Given the description of an element on the screen output the (x, y) to click on. 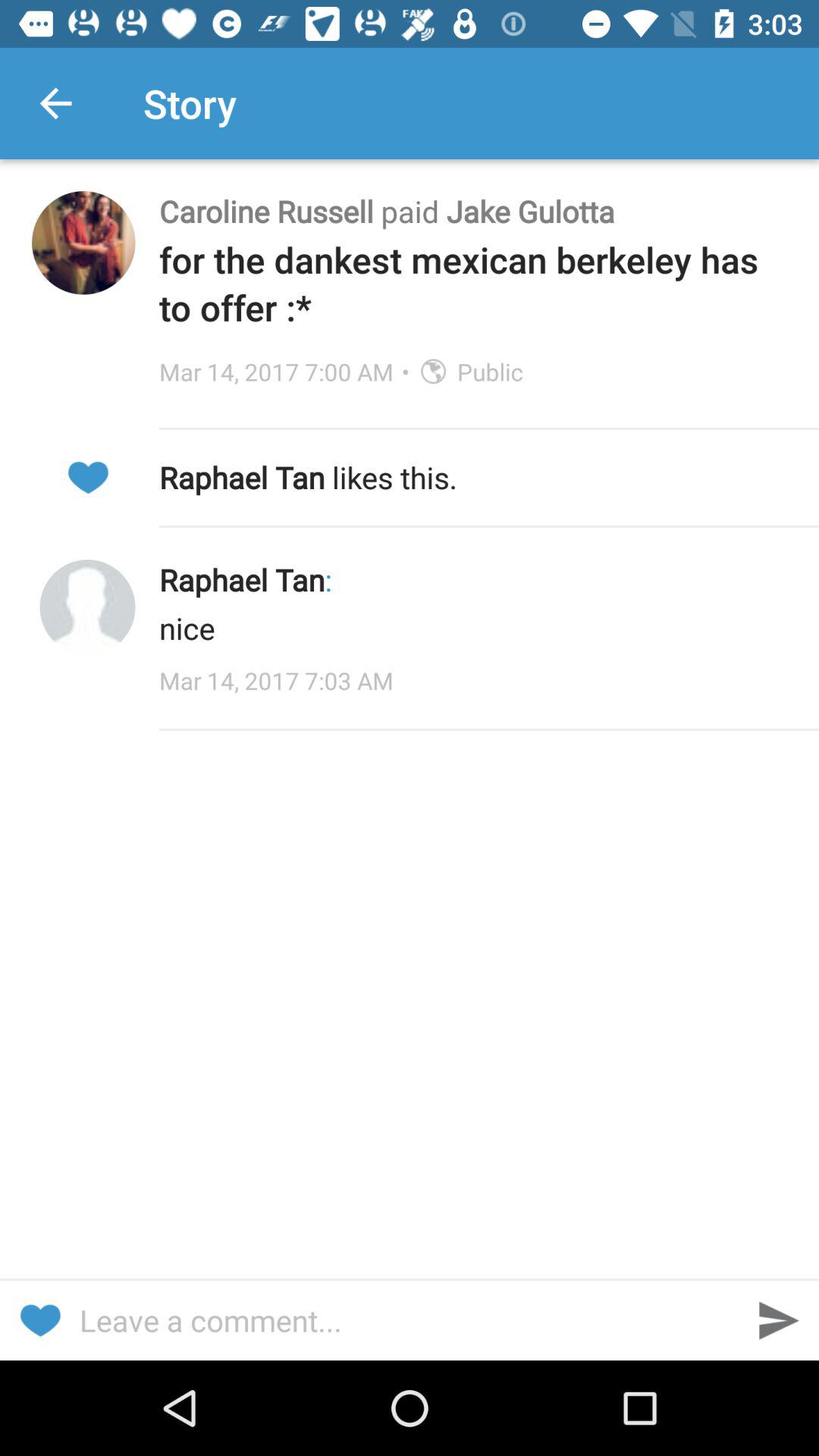
flip until the caroline russell paid (473, 211)
